Given the description of an element on the screen output the (x, y) to click on. 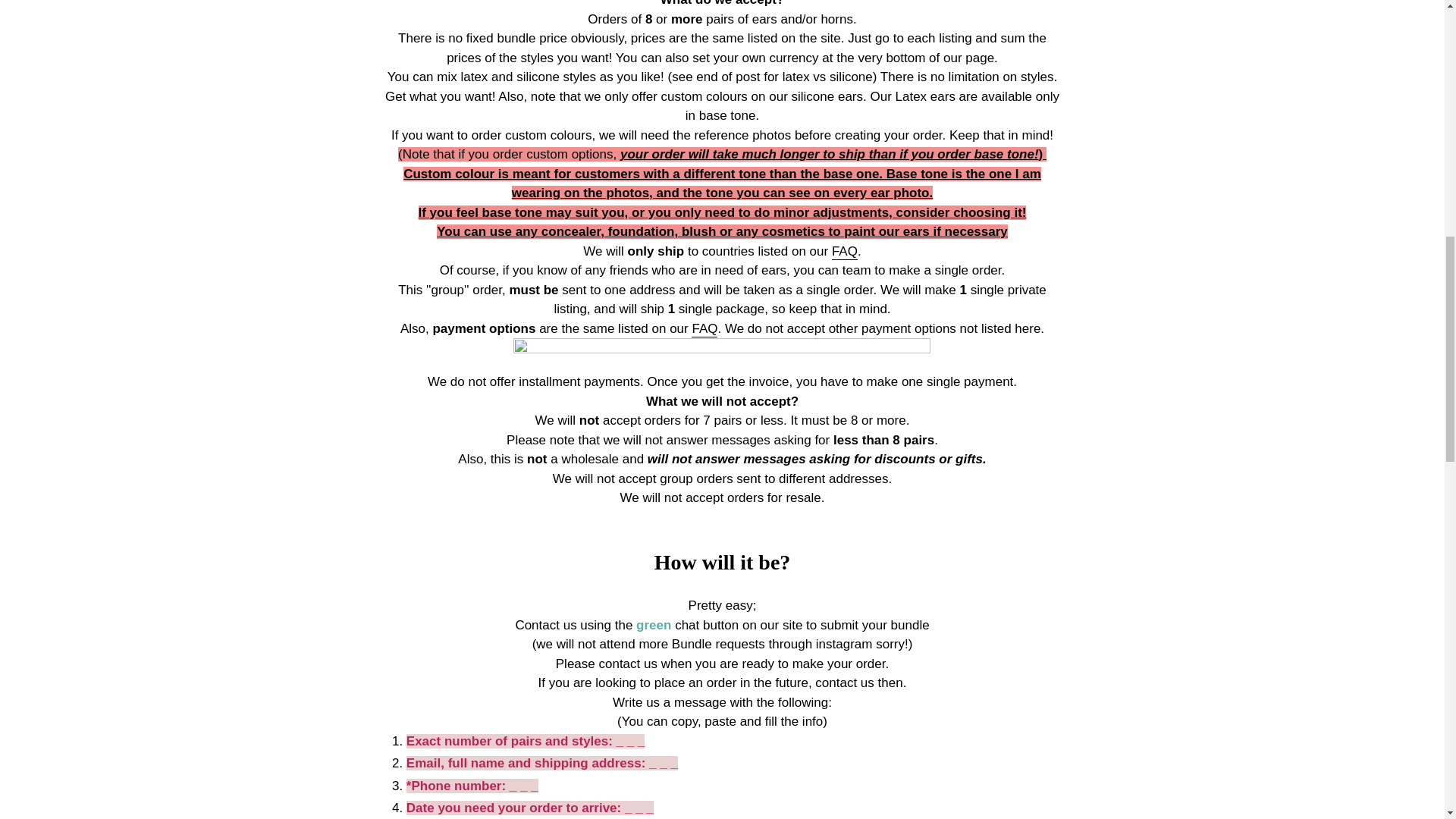
FAQ (704, 329)
FAQ (704, 329)
FAQ (844, 252)
FAQ (844, 252)
